Given the description of an element on the screen output the (x, y) to click on. 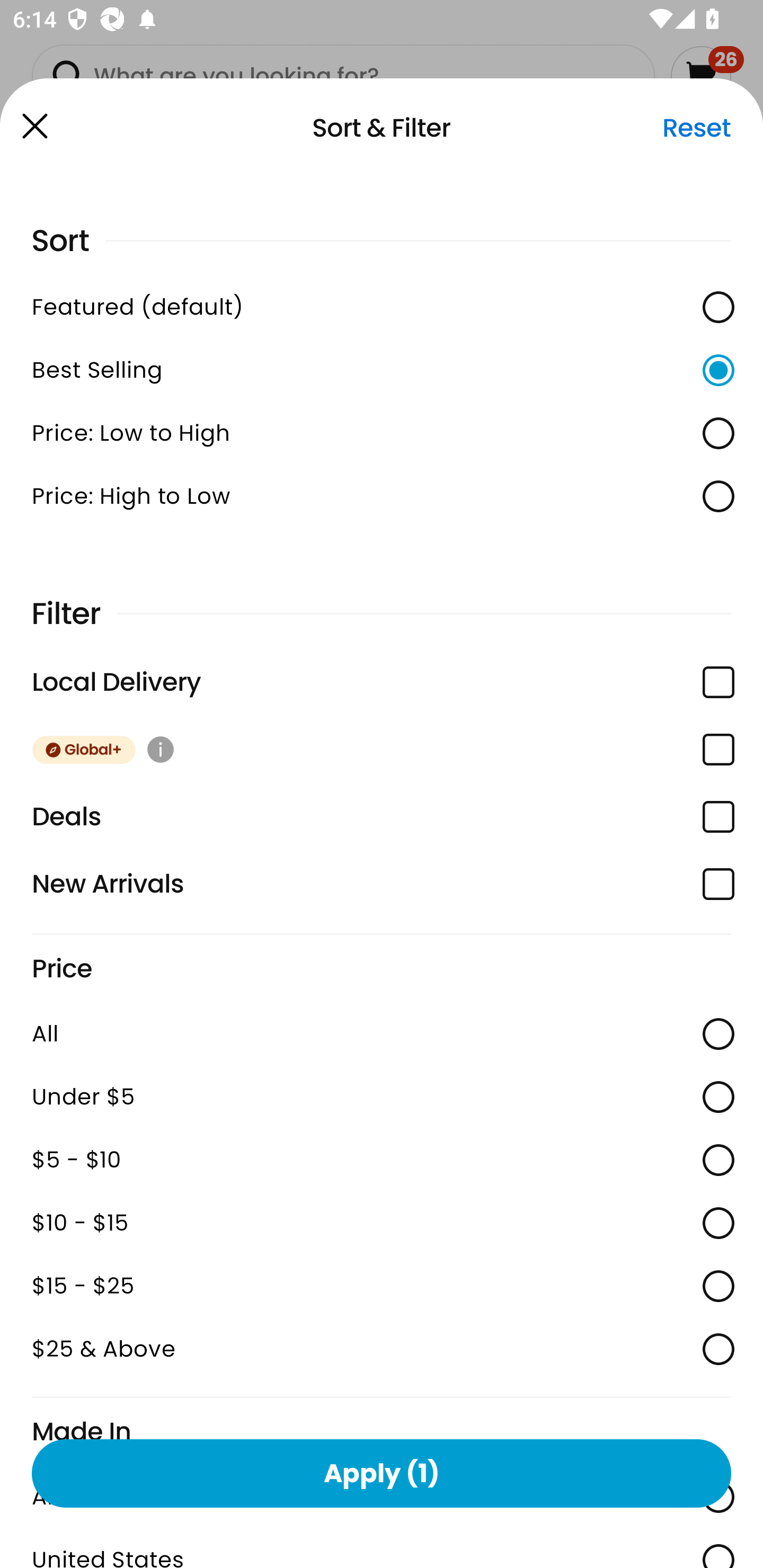
Reset (696, 127)
Apply (1) (381, 1472)
